Given the description of an element on the screen output the (x, y) to click on. 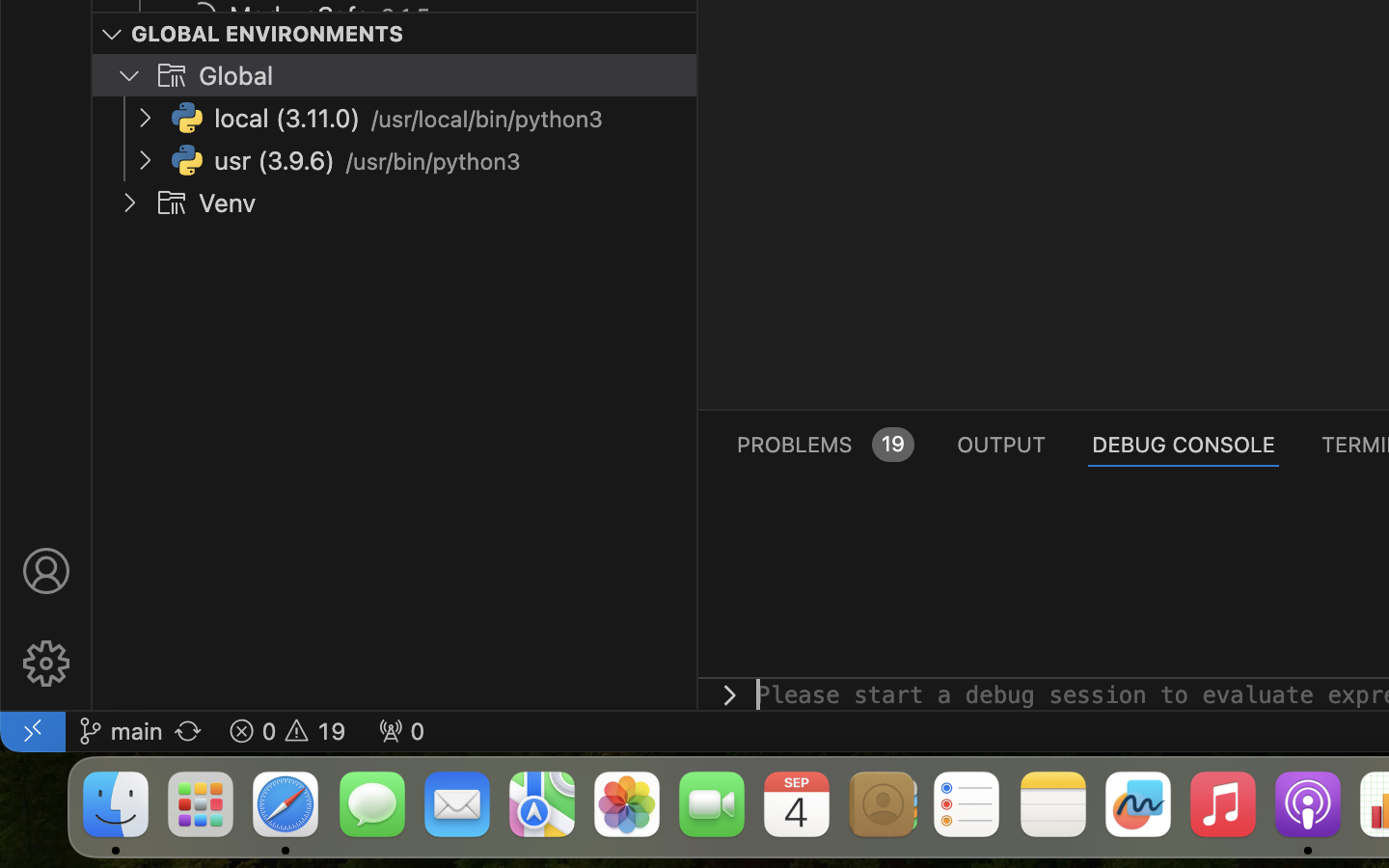
main  Element type: AXButton (120, 730)
usr (3.9.6) Element type: AXStaticText (274, 160)
Venv Element type: AXStaticText (227, 203)
 Element type: AXStaticText (46, 663)
 0 Element type: AXButton (400, 730)
